Given the description of an element on the screen output the (x, y) to click on. 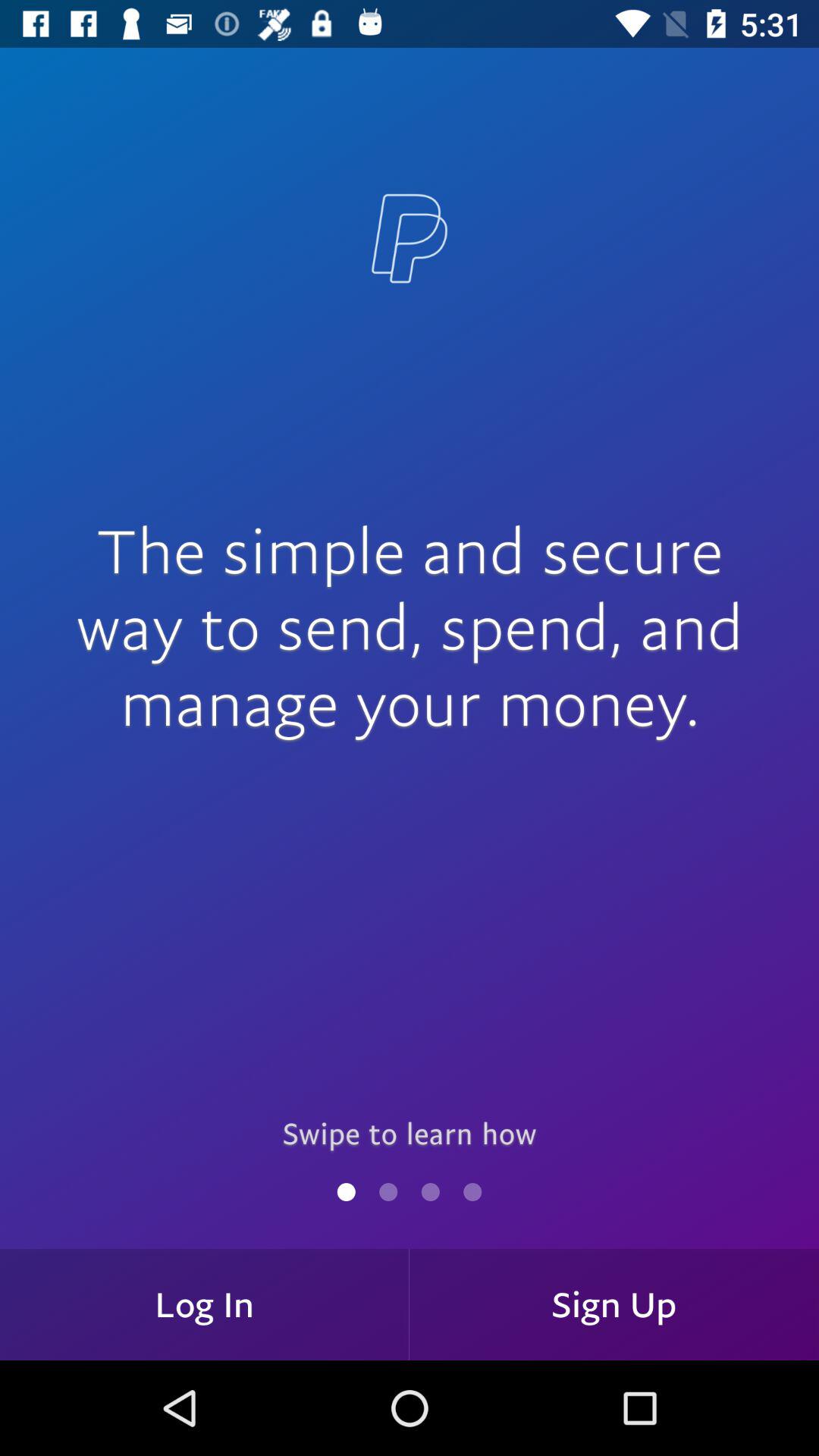
click log in item (204, 1304)
